Given the description of an element on the screen output the (x, y) to click on. 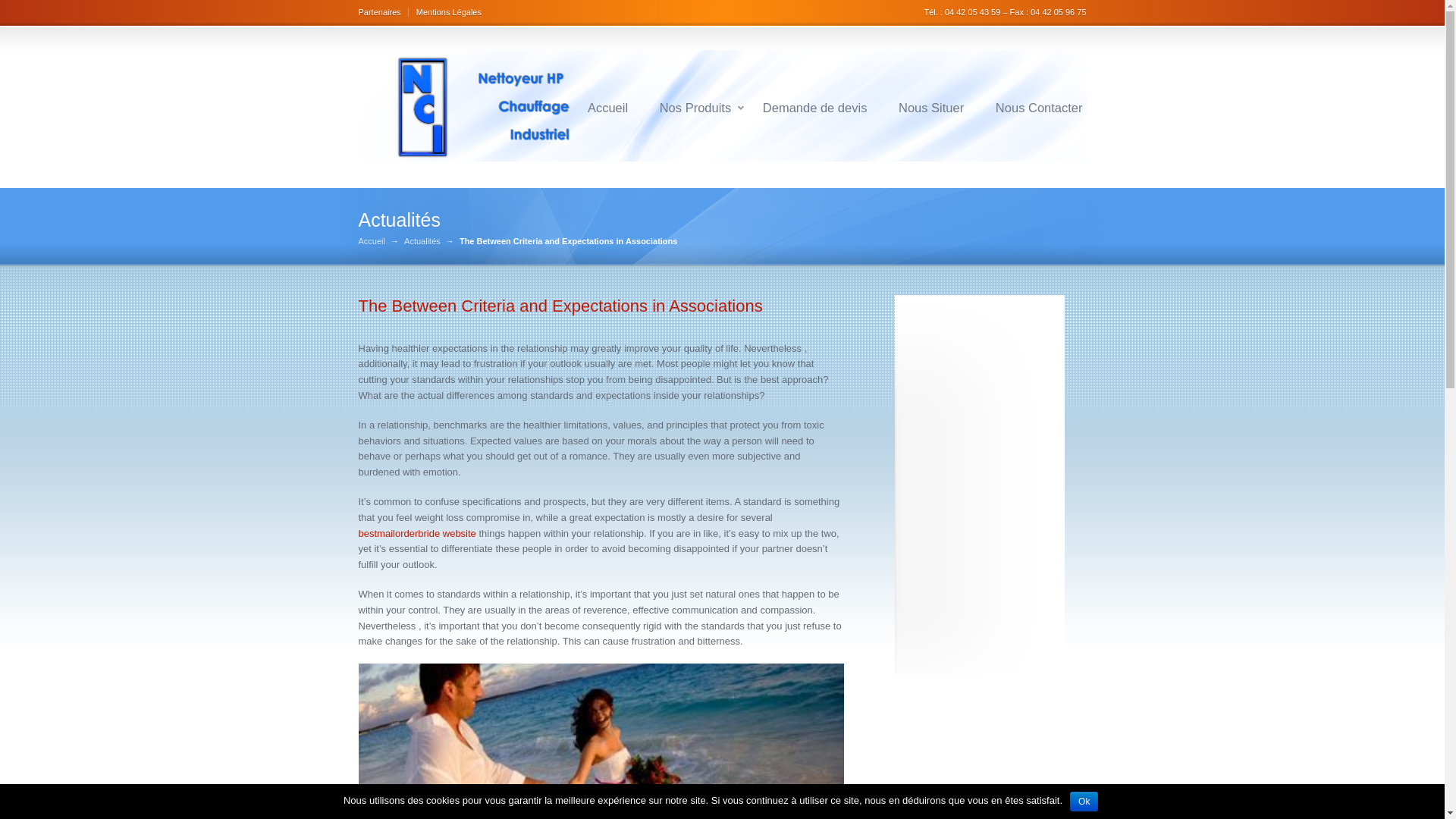
The Between Criteria and Expectations in Associations (559, 305)
Accueil (607, 107)
Demande de devis (814, 107)
Nous Contacter (1038, 107)
Nos Produits (695, 107)
Partenaires (382, 11)
Accueil (371, 241)
Nous Situer (931, 107)
